Given the description of an element on the screen output the (x, y) to click on. 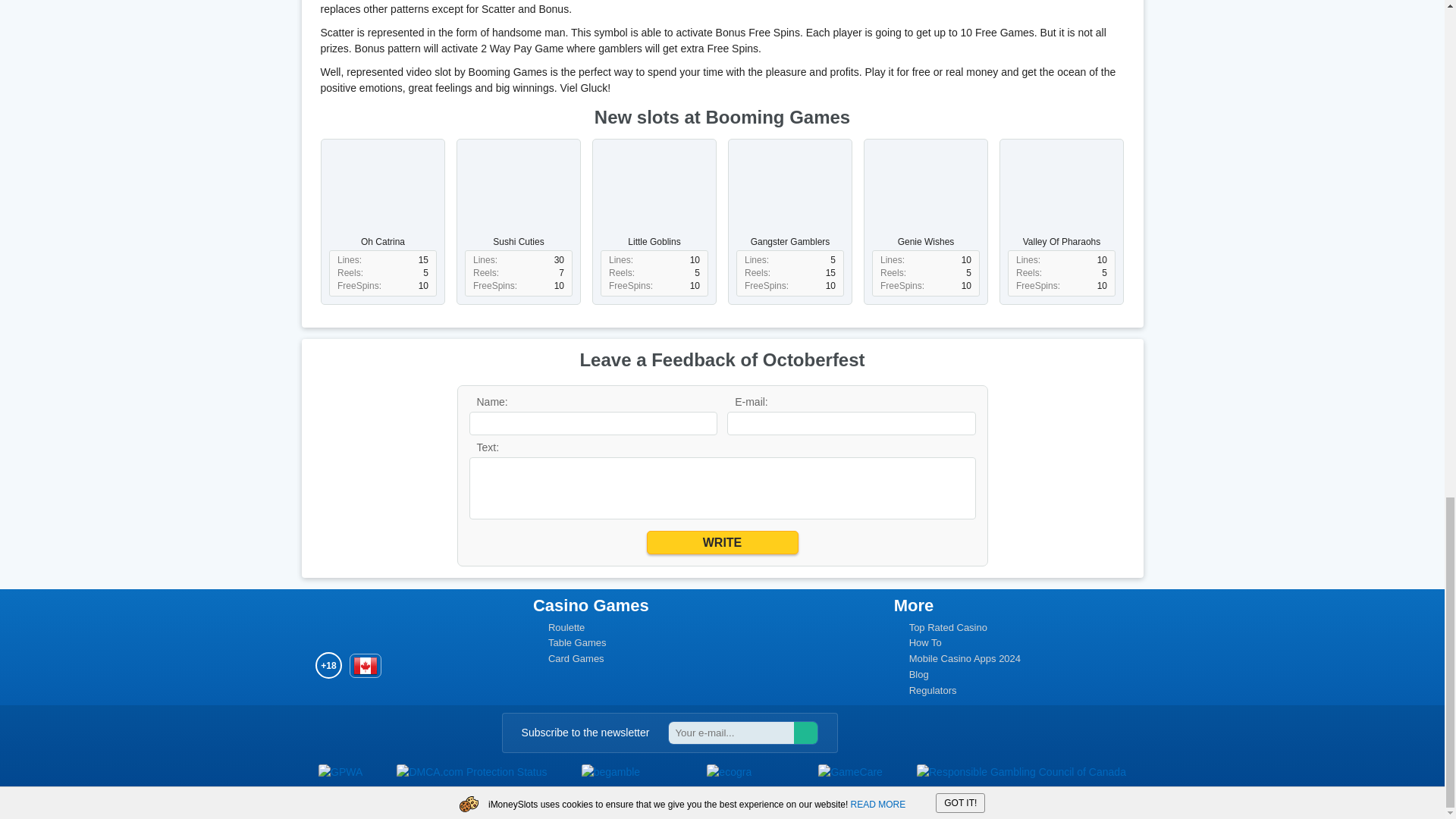
iMoneySlots (348, 620)
Little Goblins (653, 196)
Sushi Cuties (518, 196)
WRITE (721, 542)
EN (365, 665)
Gangster Gamblers (789, 196)
Valley Of Pharaohs (1061, 196)
Oh Catrina (382, 196)
Genie Wishes (925, 196)
